Given the description of an element on the screen output the (x, y) to click on. 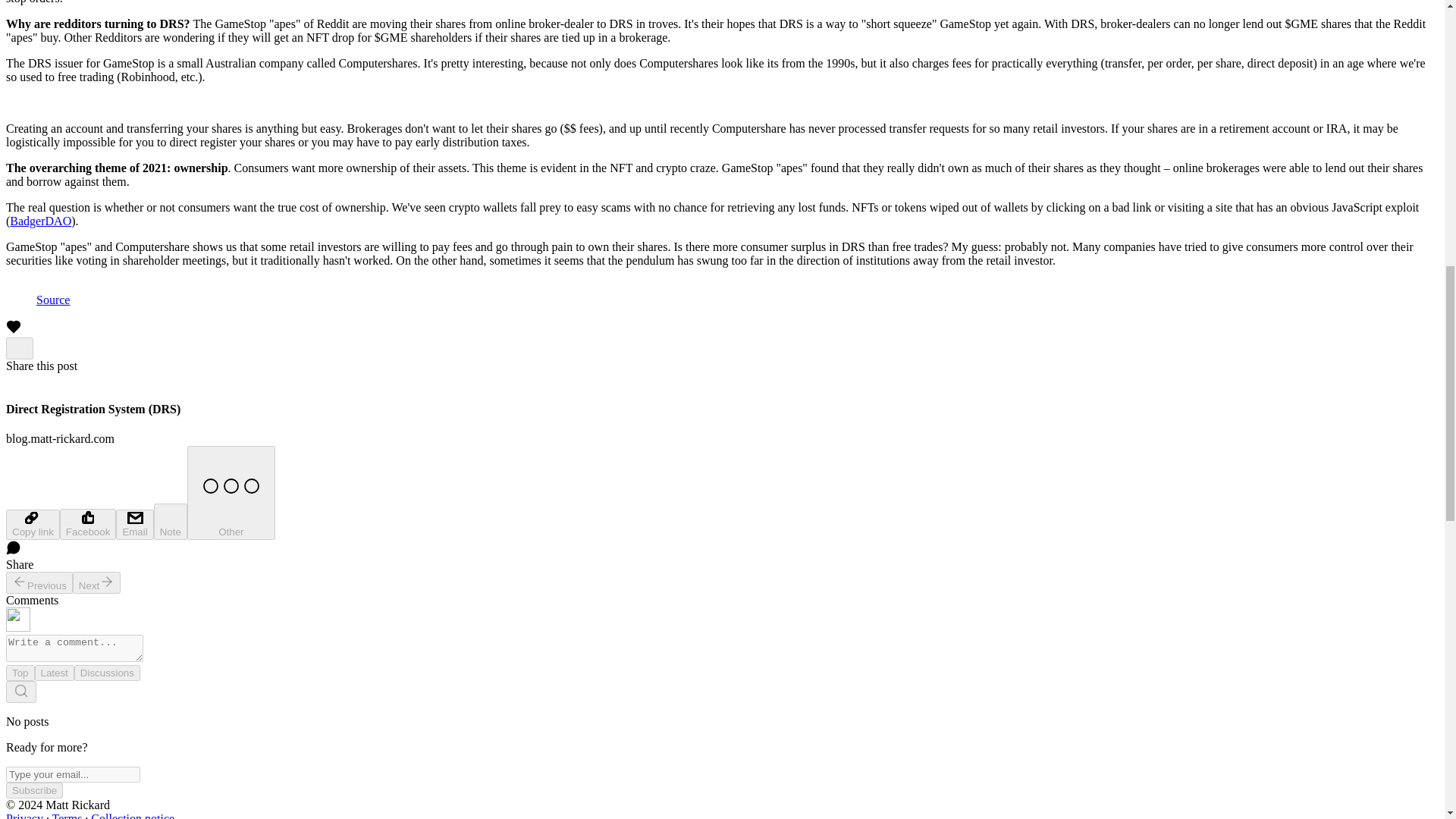
Email (134, 524)
Latest (54, 672)
Top (19, 672)
Facebook (87, 523)
Copy link (32, 524)
Note (170, 521)
Other (231, 492)
Source (52, 299)
Next (96, 582)
Subscribe (33, 790)
Discussions (106, 672)
Previous (38, 582)
BadgerDAO (40, 220)
